Given the description of an element on the screen output the (x, y) to click on. 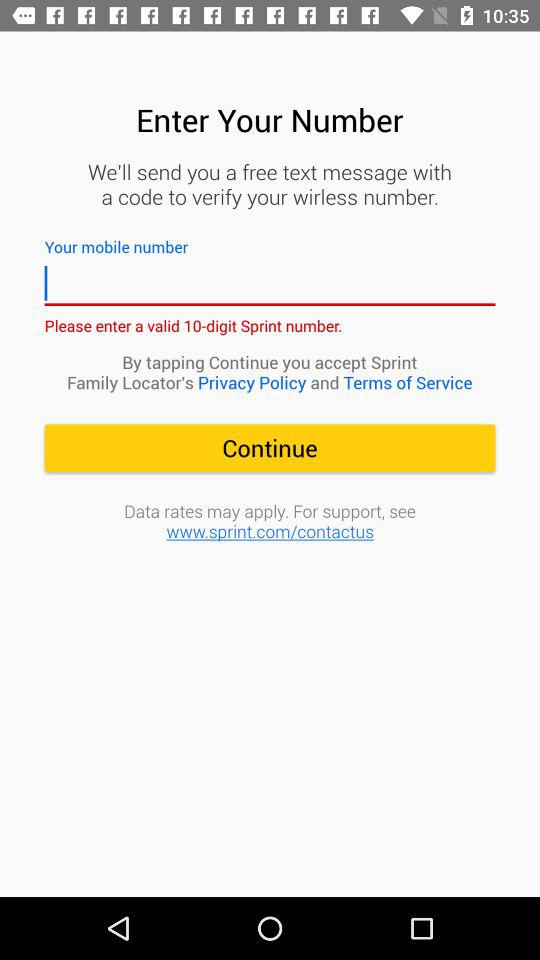
text box to enter phone number (269, 283)
